Given the description of an element on the screen output the (x, y) to click on. 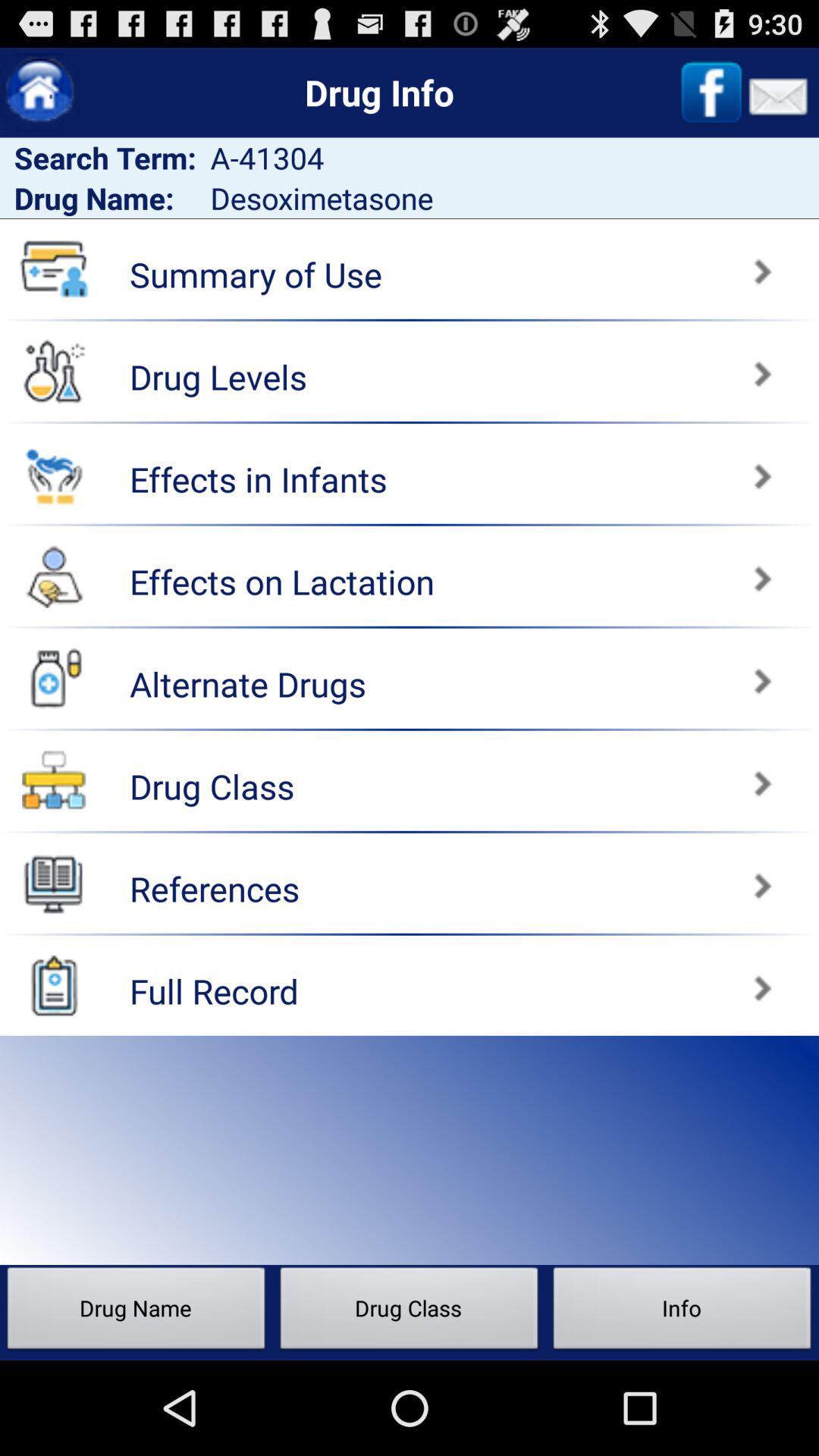
view alternate drugs (617, 673)
